Given the description of an element on the screen output the (x, y) to click on. 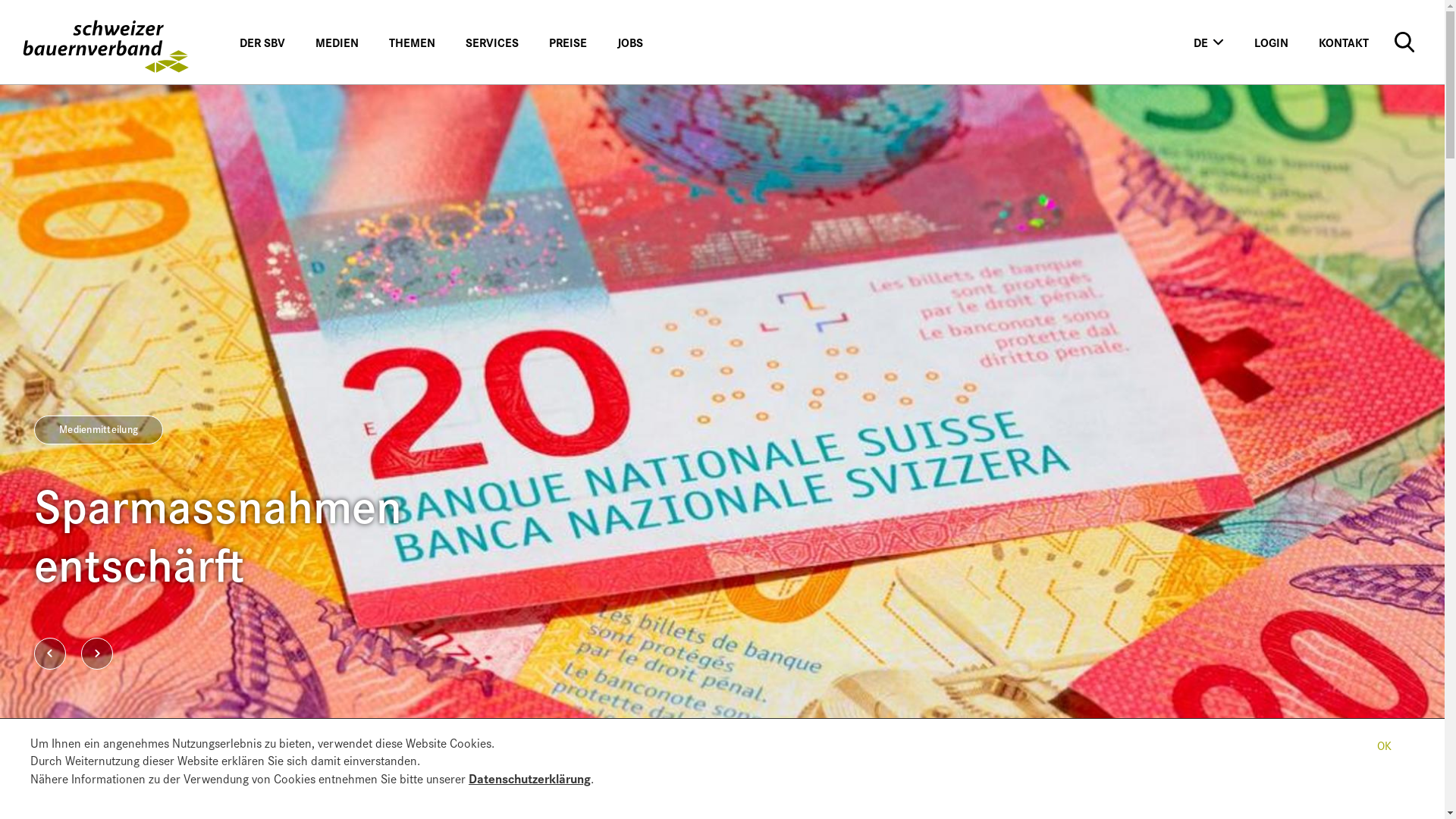
JOBS Element type: text (630, 41)
MEDIEN Element type: text (336, 41)
THEMEN Element type: text (411, 41)
DE Element type: text (1208, 41)
DER SBV Element type: text (262, 41)
KONTAKT Element type: text (1343, 41)
SERVICES Element type: text (491, 41)
LOGIN Element type: text (1271, 41)
PREISE Element type: text (567, 41)
OK Element type: text (1383, 743)
